Given the description of an element on the screen output the (x, y) to click on. 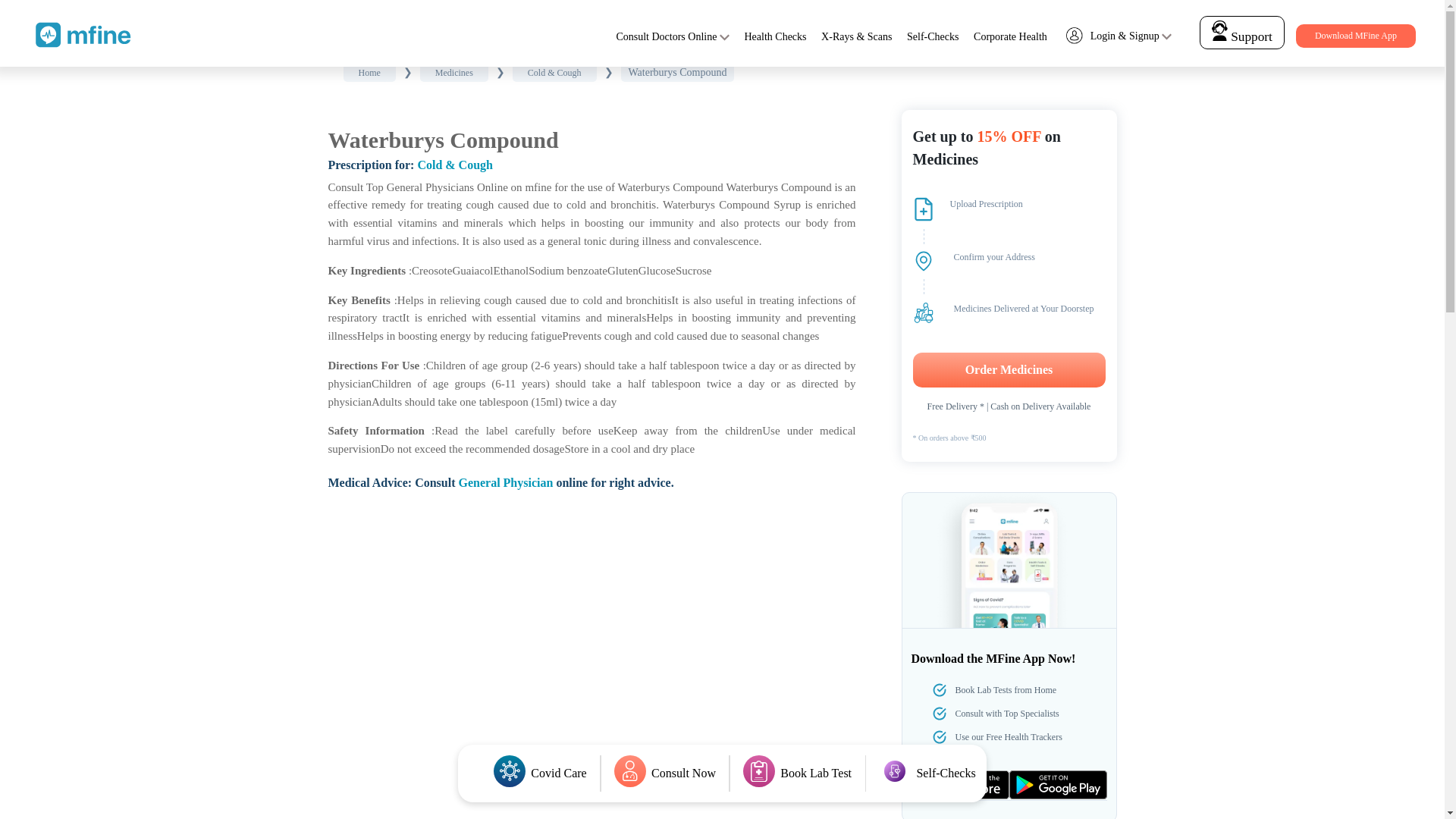
Support (1241, 32)
Corporate Health (1010, 36)
Download MFine App (1355, 35)
Support (1241, 36)
Self-Checks (932, 36)
Health Checks (775, 36)
Consult Doctors Online (665, 36)
